Given the description of an element on the screen output the (x, y) to click on. 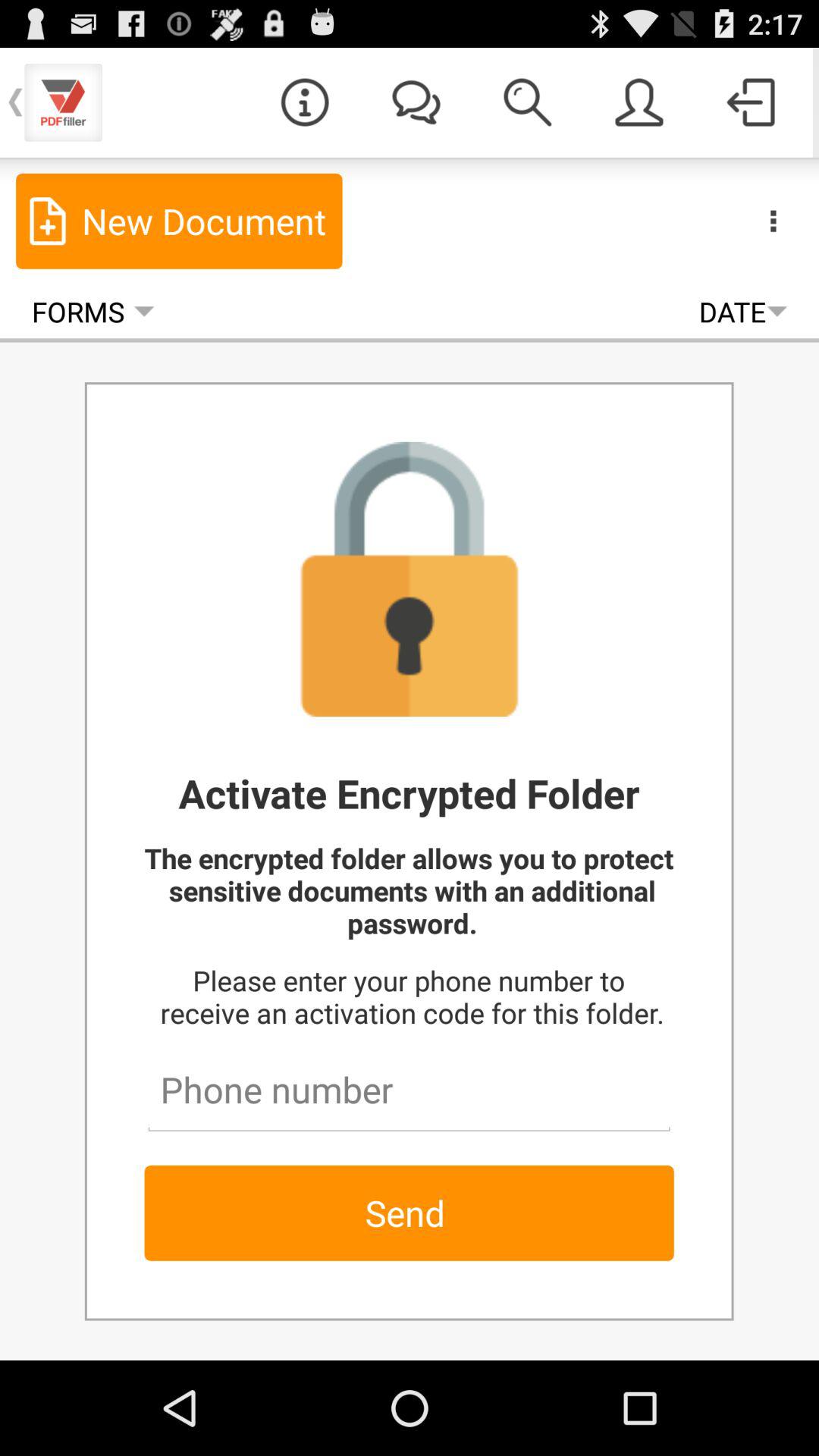
phone number input (408, 1083)
